Given the description of an element on the screen output the (x, y) to click on. 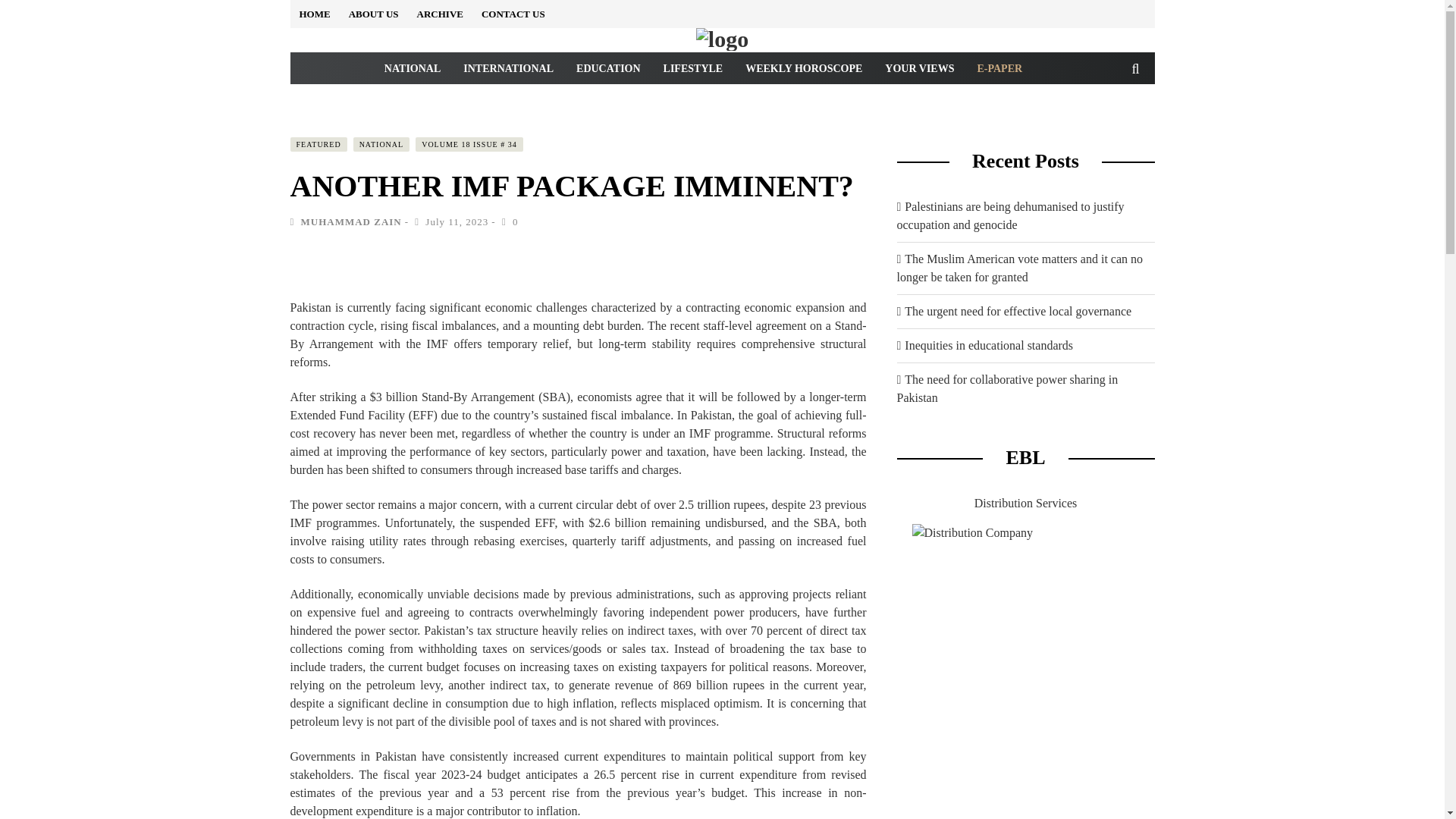
MUHAMMAD ZAIN (350, 221)
HOME (314, 13)
LIFESTYLE (693, 68)
NATIONAL (411, 68)
NATIONAL (381, 144)
FEATURED (317, 144)
YOUR VIEWS (919, 68)
EDUCATION (608, 68)
Posts by Muhammad Zain (350, 221)
INTERNATIONAL (507, 68)
